Given the description of an element on the screen output the (x, y) to click on. 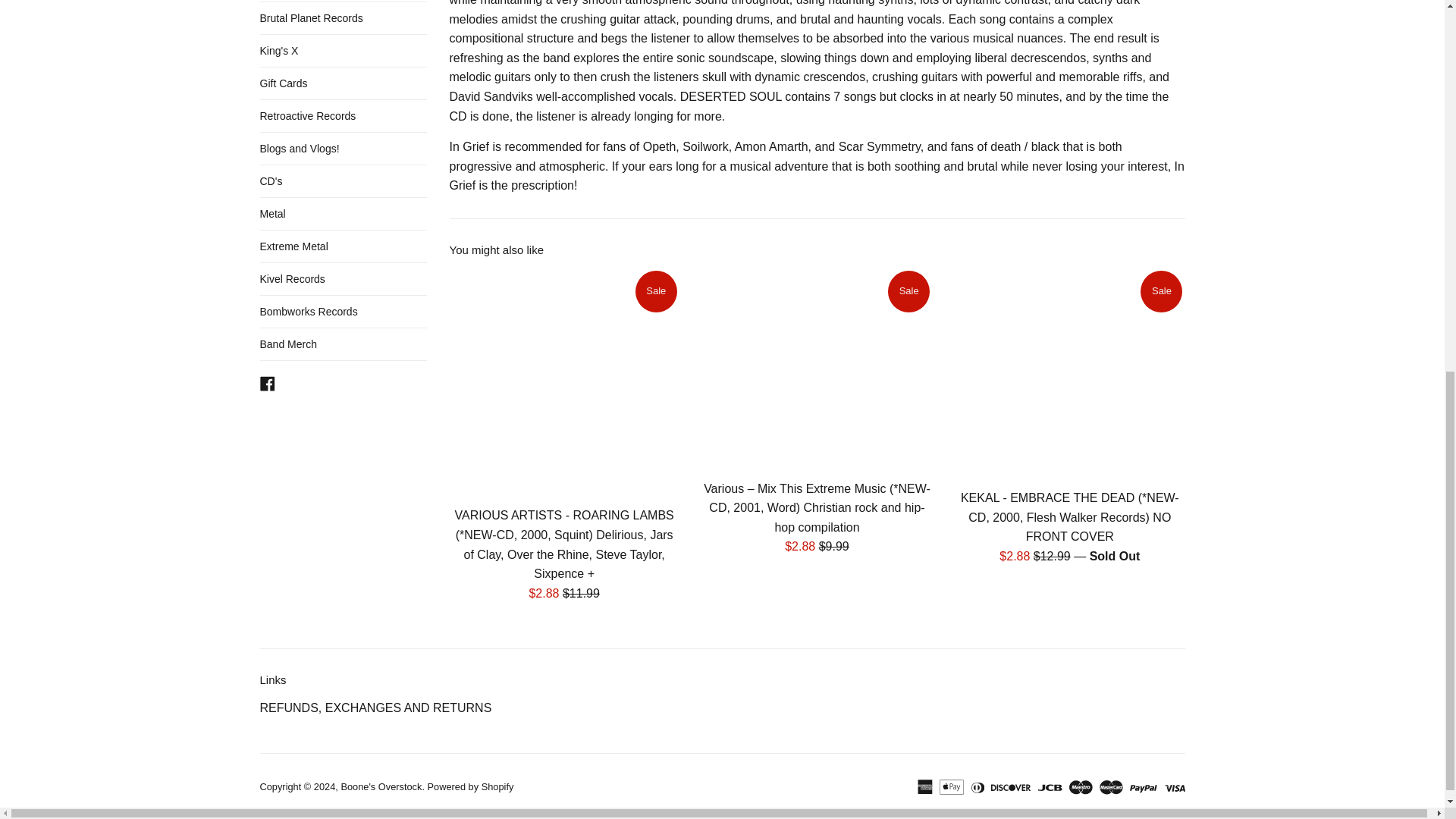
Gift Cards (342, 83)
Facebook (267, 382)
CD's (342, 181)
Brutal Planet Records (342, 18)
Kivel Records (342, 278)
Band Merch (342, 344)
Bombworks Records (342, 311)
Boone's Overstock on Facebook (267, 382)
Blogs and Vlogs! (342, 148)
King's X (342, 50)
